Given the description of an element on the screen output the (x, y) to click on. 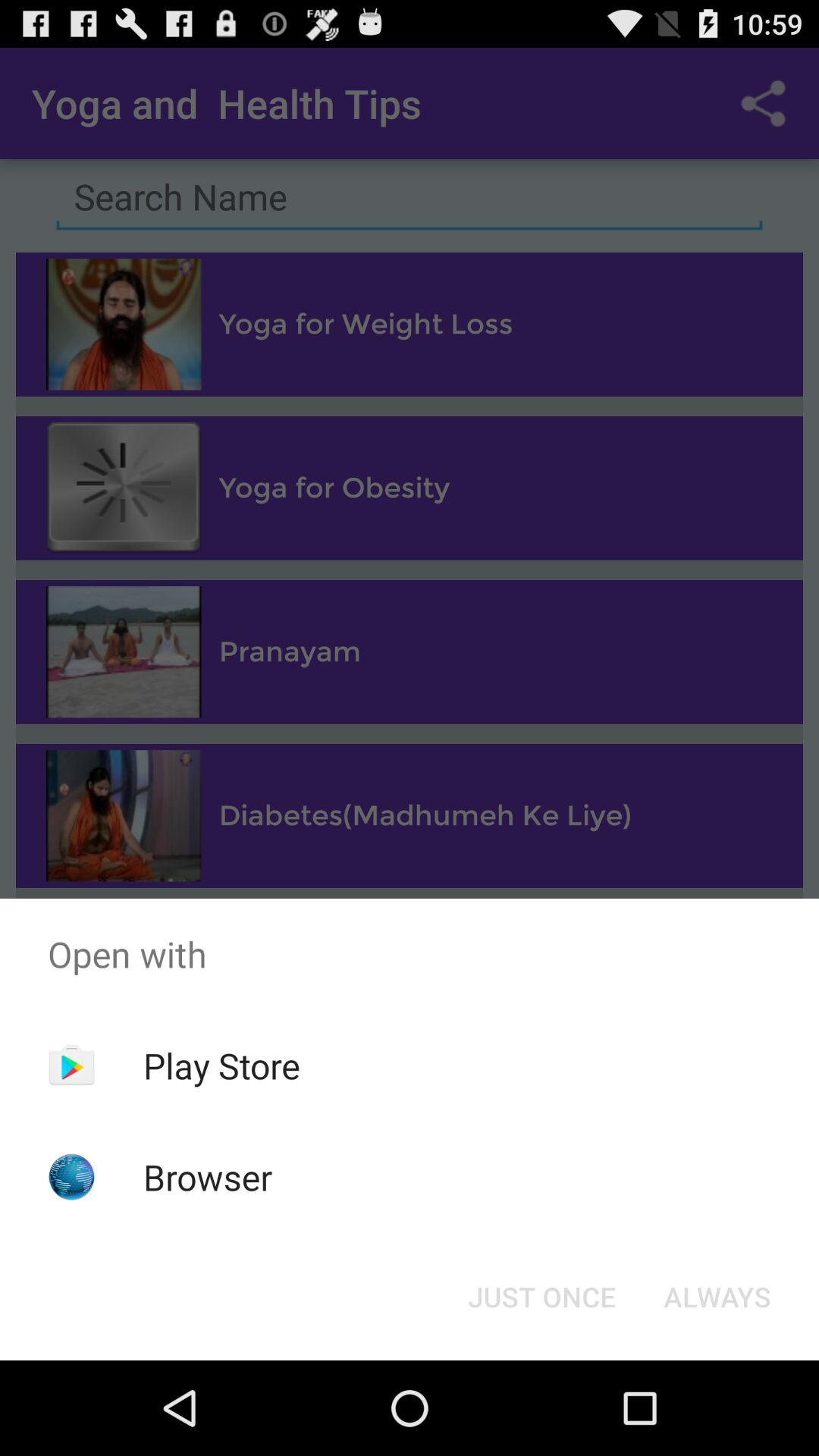
click the item below the open with (541, 1296)
